Given the description of an element on the screen output the (x, y) to click on. 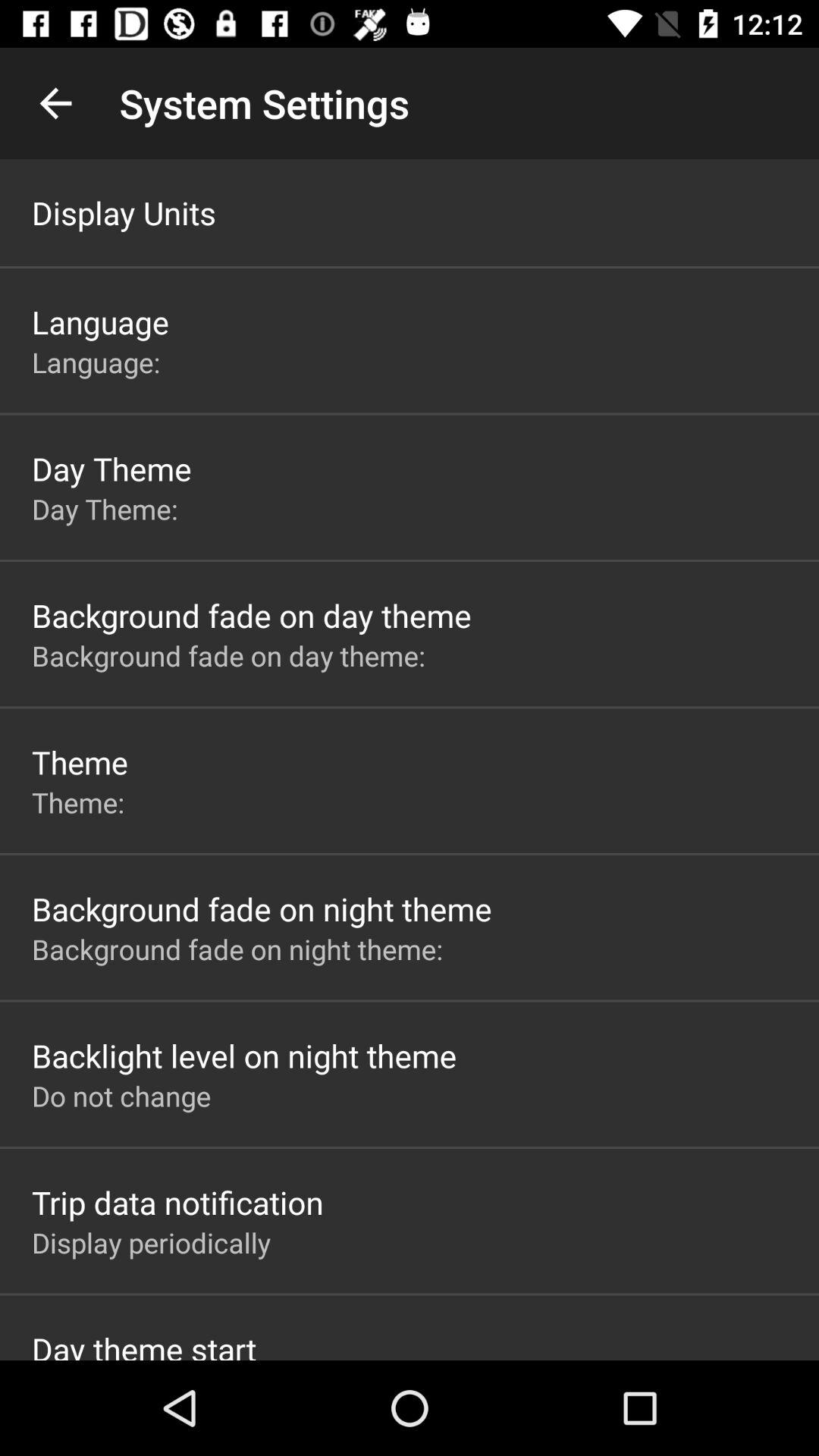
swipe until do not change item (121, 1095)
